Given the description of an element on the screen output the (x, y) to click on. 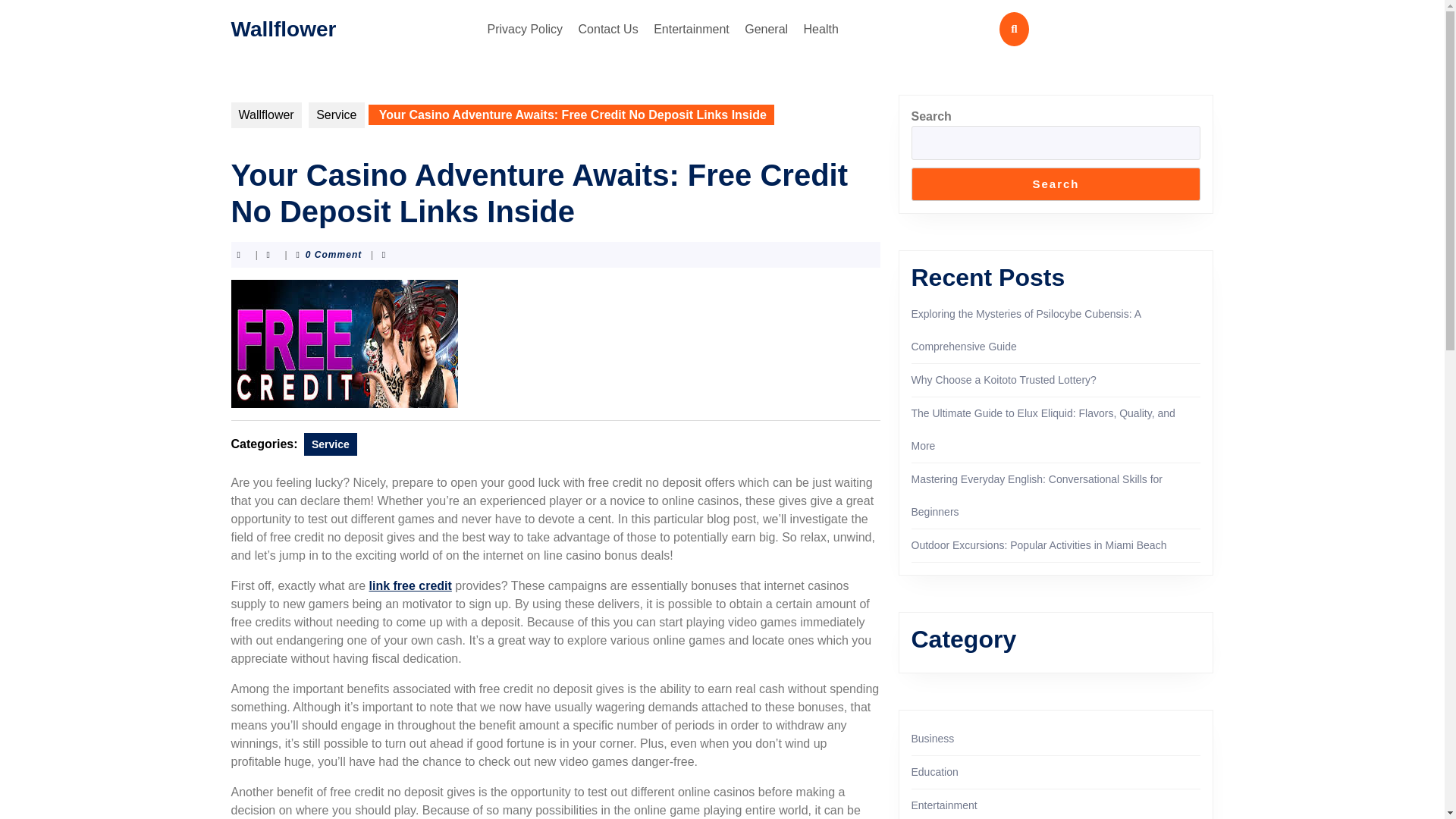
Search (1056, 183)
Contact Us (608, 28)
Wallflower (283, 28)
Entertainment (691, 28)
Why Choose a Koitoto Trusted Lottery? (1003, 379)
link free credit (409, 585)
Health (820, 28)
Wallflower (265, 114)
Service (330, 444)
Privacy Policy (524, 28)
General (765, 28)
Service (336, 114)
